Given the description of an element on the screen output the (x, y) to click on. 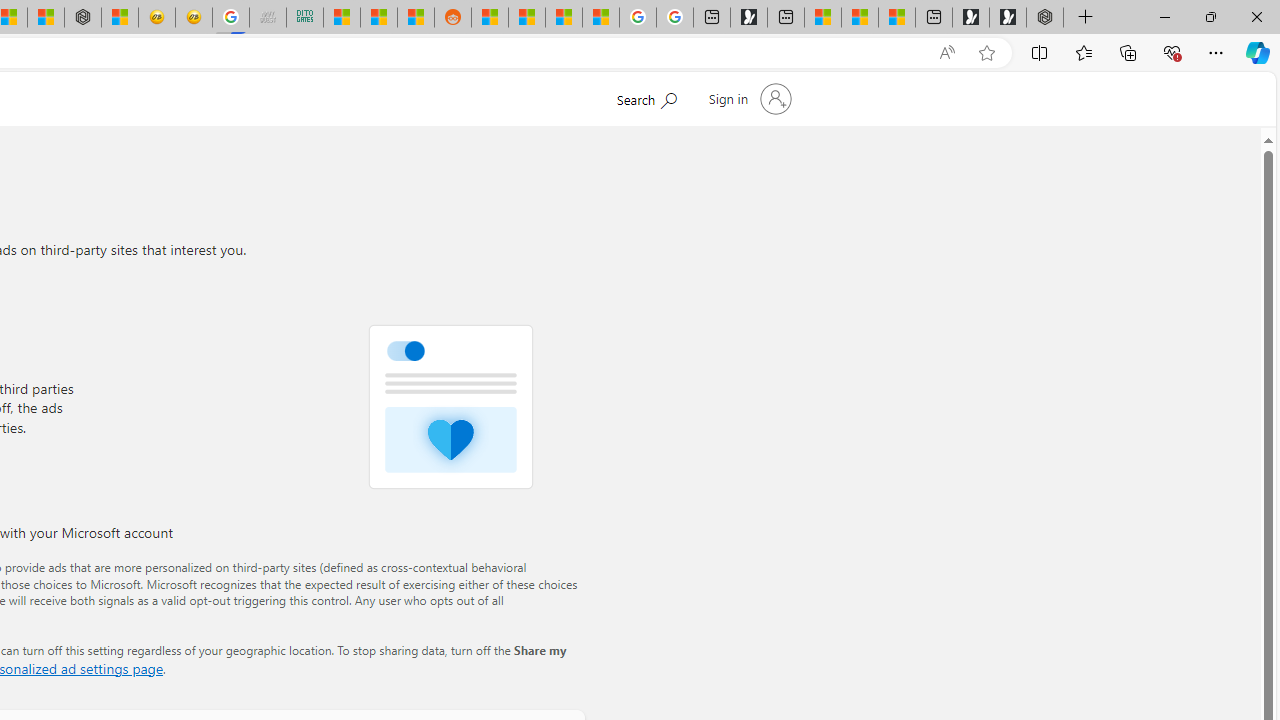
These 3 Stocks Pay You More Than 5% to Own Them (897, 17)
Search Microsoft.com (646, 97)
